Given the description of an element on the screen output the (x, y) to click on. 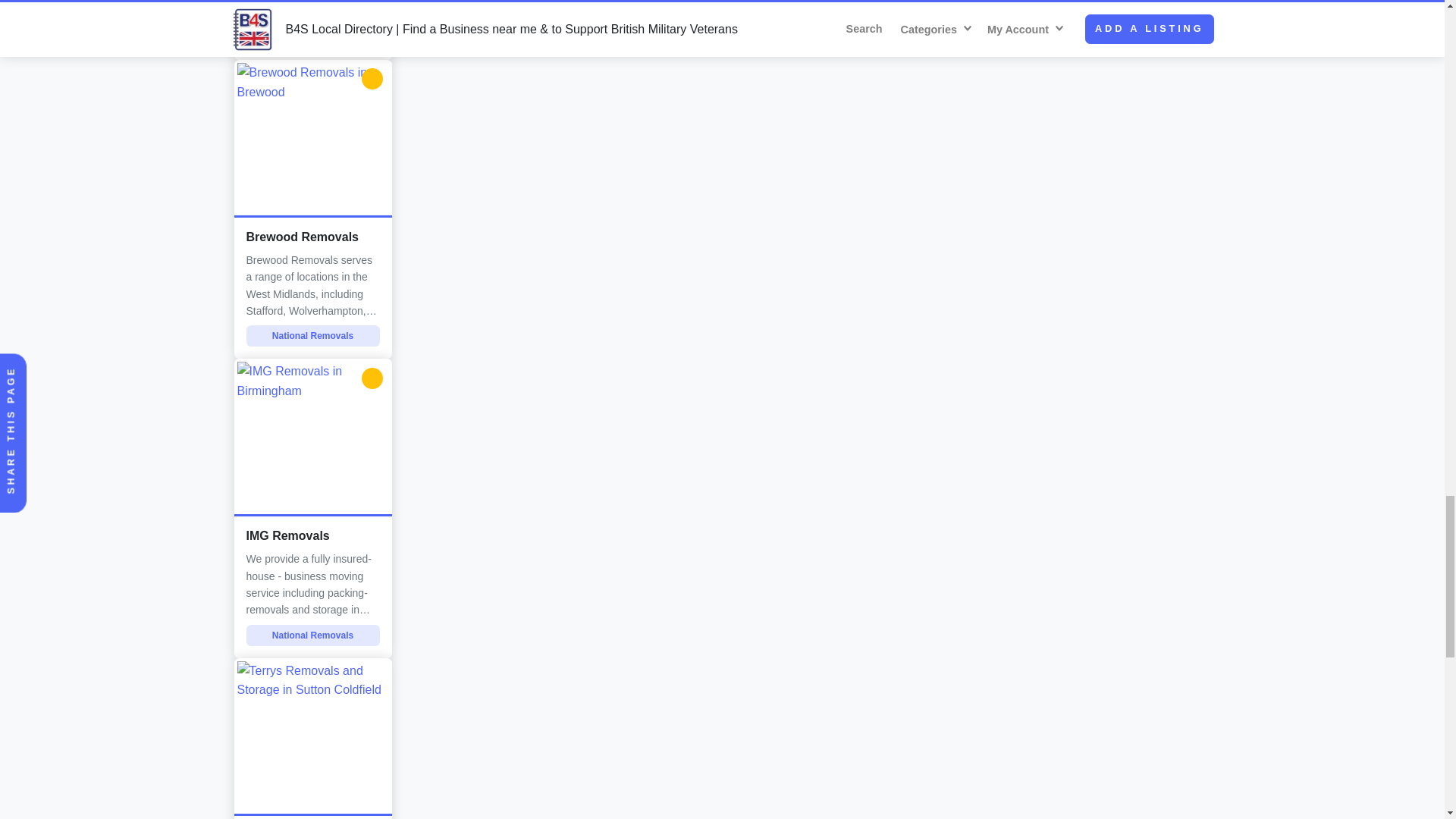
Triple A Removals Ltd in Stroud (311, 29)
Terrys Removals and Storage in Sutton Coldfield (311, 738)
